Given the description of an element on the screen output the (x, y) to click on. 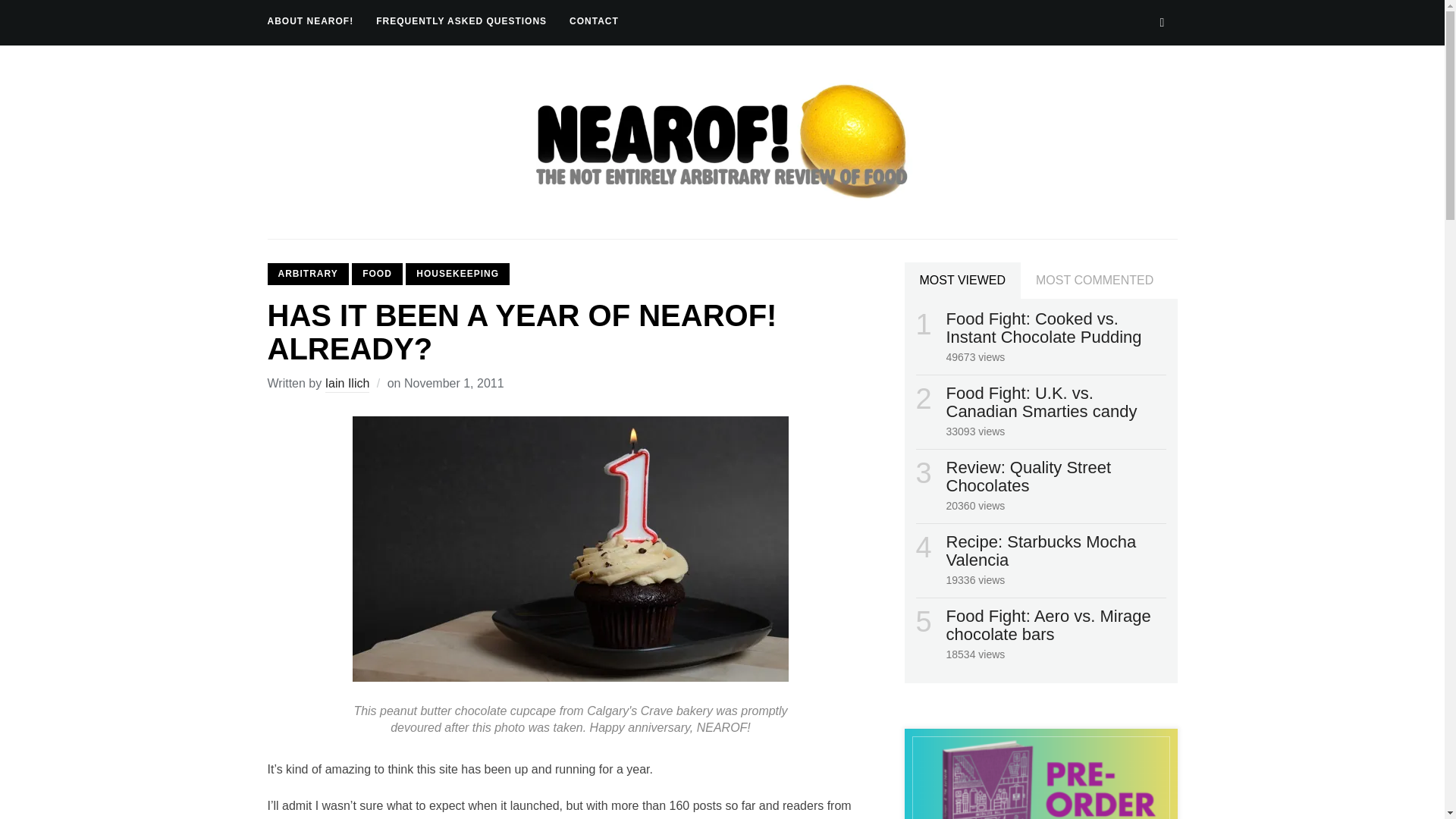
ARBITRARY (306, 273)
Posts by Iain Ilich (346, 384)
ABOUT NEAROF! (309, 21)
FOOD (377, 273)
FREQUENTLY ASKED QUESTIONS (461, 21)
Happy aniversary, NEAROF! (570, 548)
Iain Ilich (346, 384)
CONTACT (593, 21)
HOUSEKEEPING (457, 273)
Search (1161, 22)
